Given the description of an element on the screen output the (x, y) to click on. 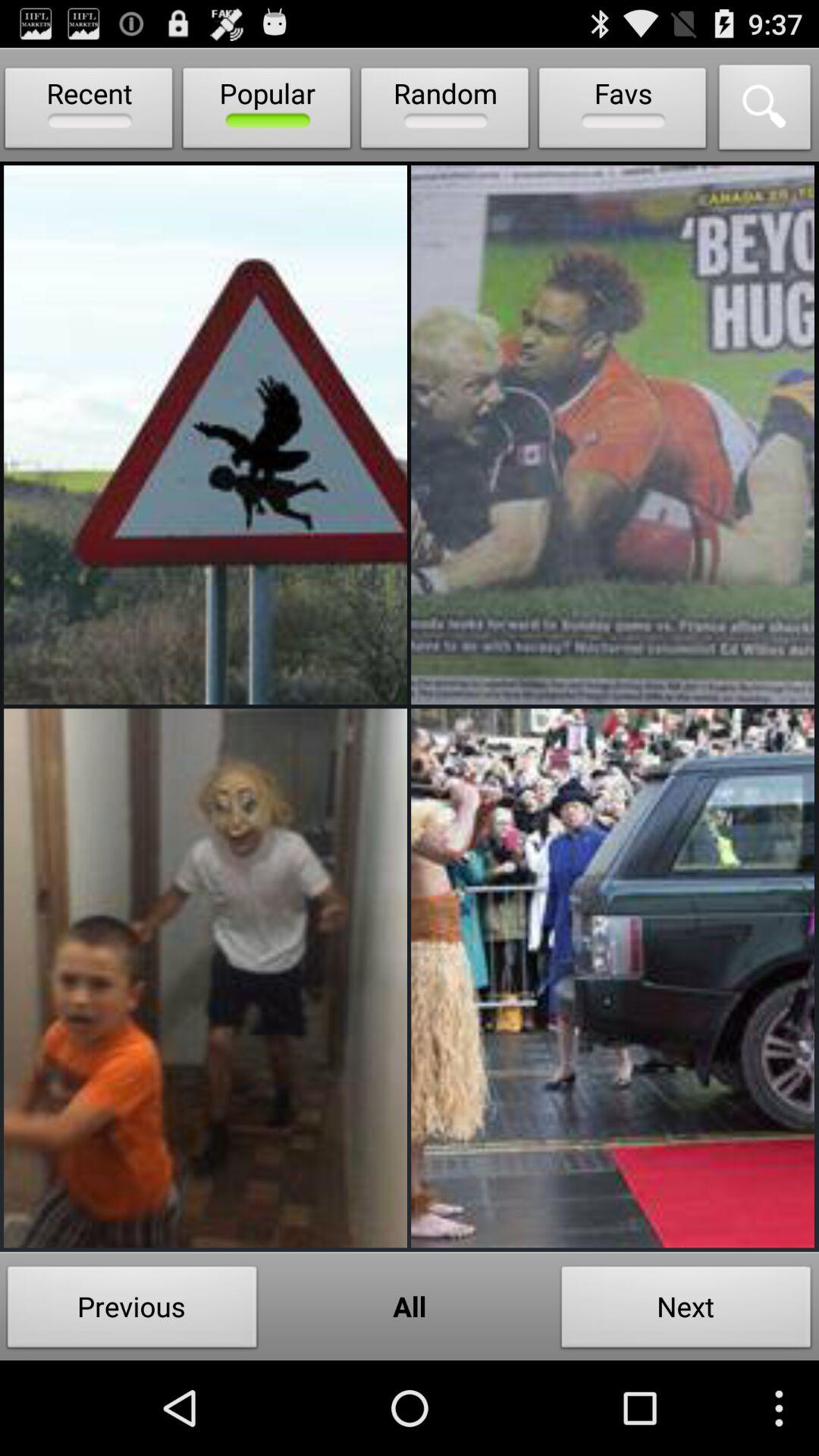
choose item next to the popular (445, 111)
